Given the description of an element on the screen output the (x, y) to click on. 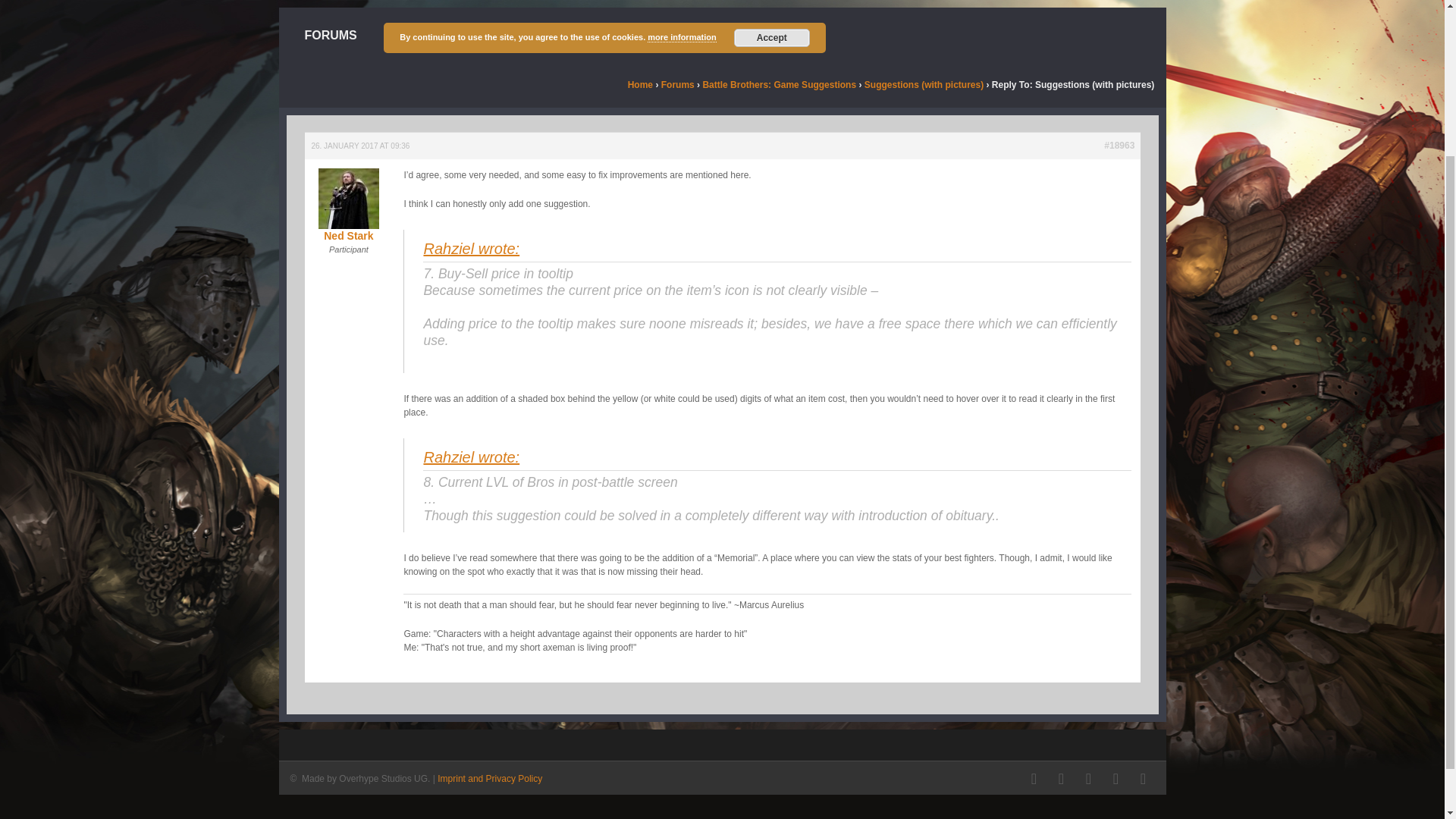
Imprint and Privacy Policy (489, 778)
Battle Brothers: Game Suggestions (778, 84)
View Ned Stark's profile (347, 215)
Ned Stark (347, 215)
Rahziel wrote: (471, 248)
Home (639, 84)
Forums (677, 84)
Rahziel wrote: (471, 457)
